Given the description of an element on the screen output the (x, y) to click on. 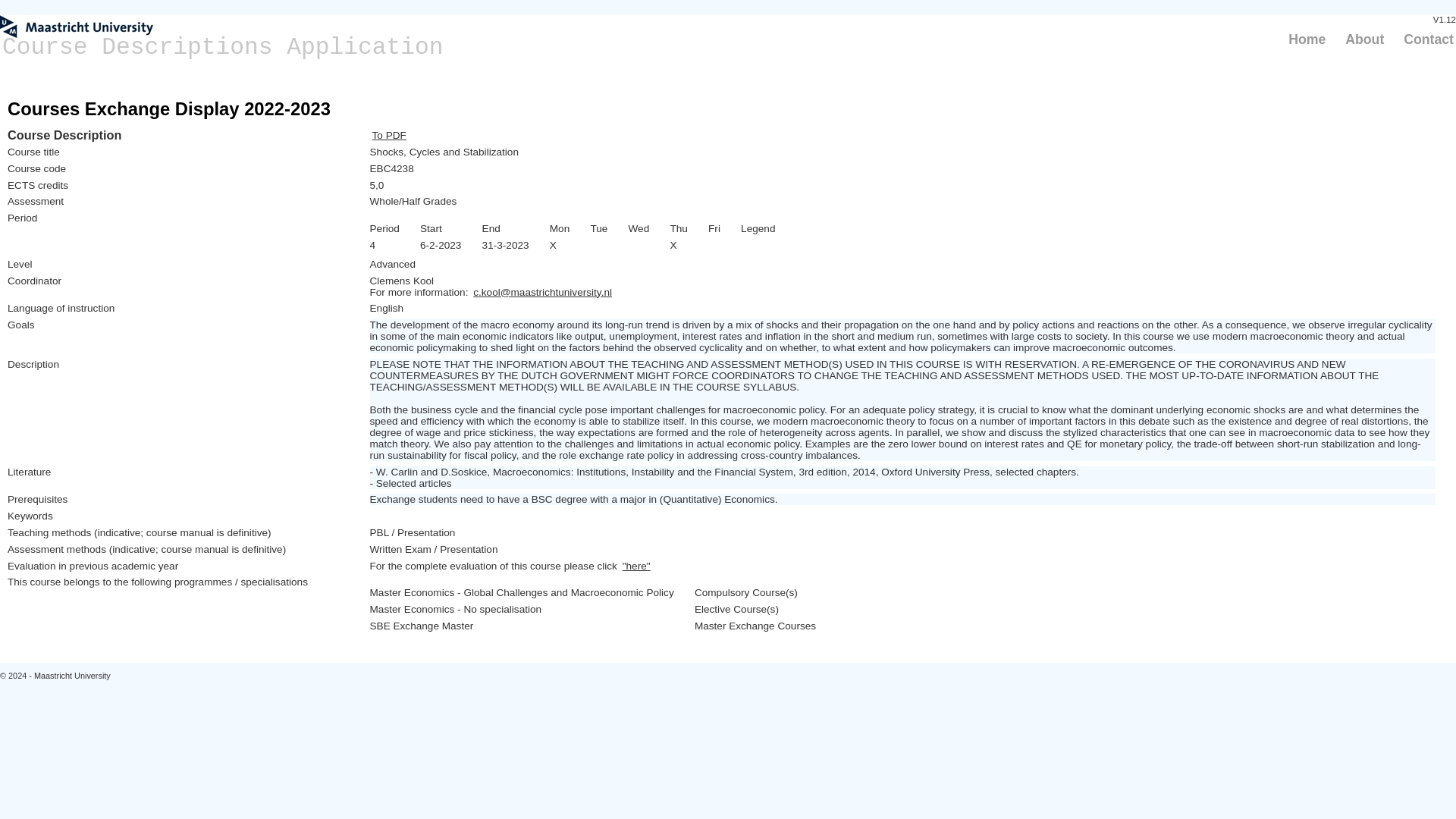
To PDF (389, 134)
About (1364, 38)
Home (1306, 38)
Course Descriptions Application (222, 47)
"here" (636, 565)
